Given the description of an element on the screen output the (x, y) to click on. 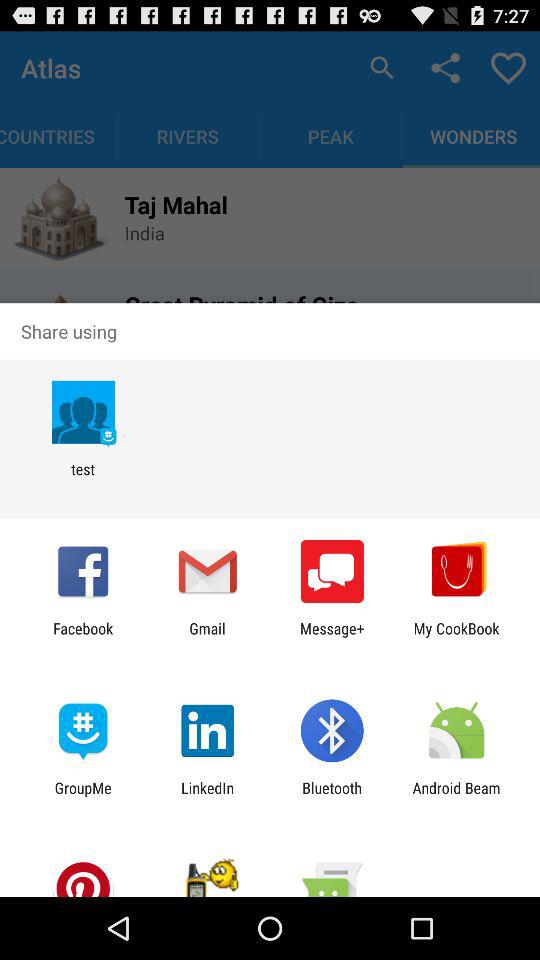
turn off the icon next to the linkedin app (331, 796)
